Given the description of an element on the screen output the (x, y) to click on. 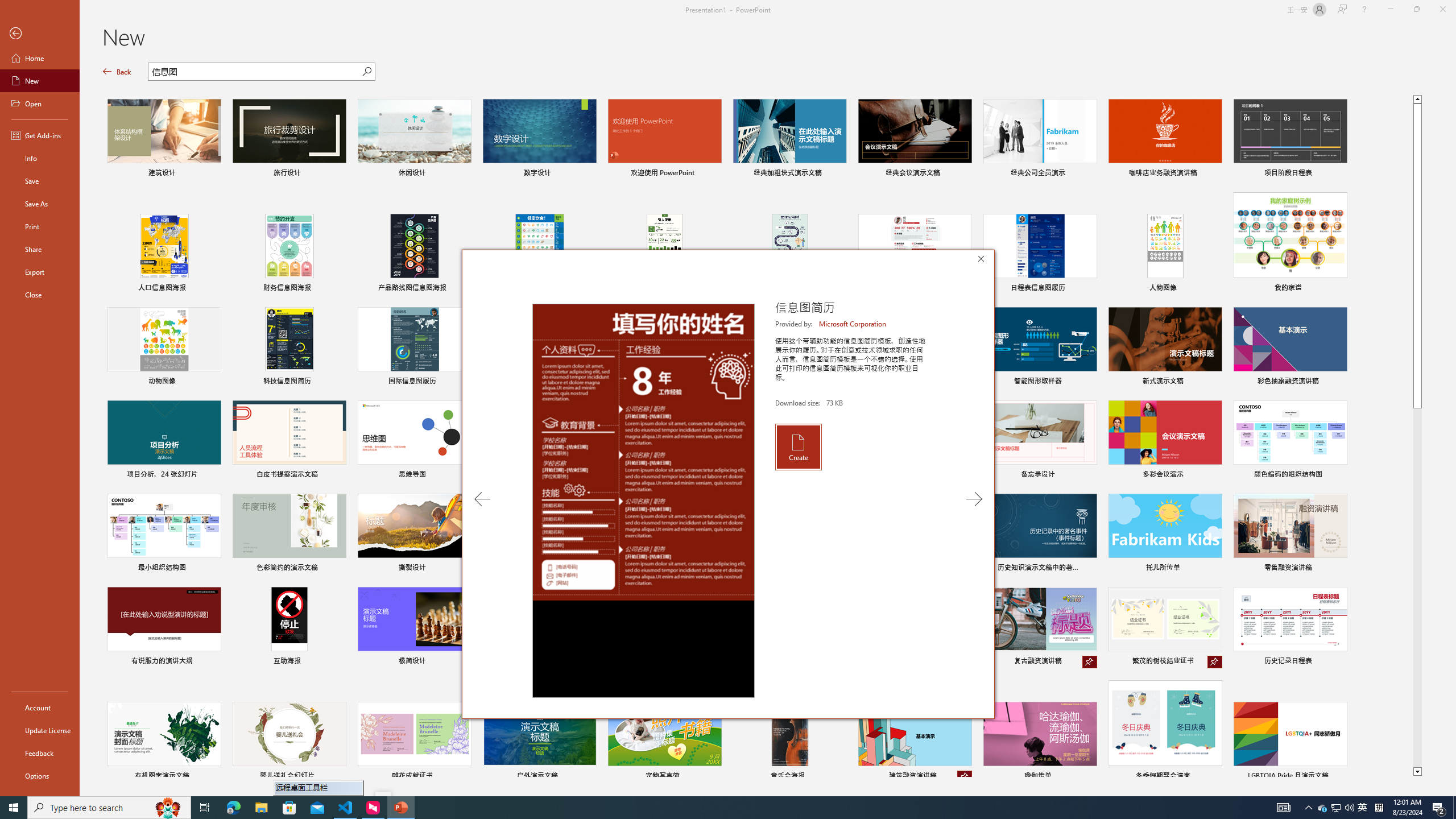
Pin to list (1339, 776)
Unpin from list (964, 776)
AutomationID: 4105 (1283, 807)
